Given the description of an element on the screen output the (x, y) to click on. 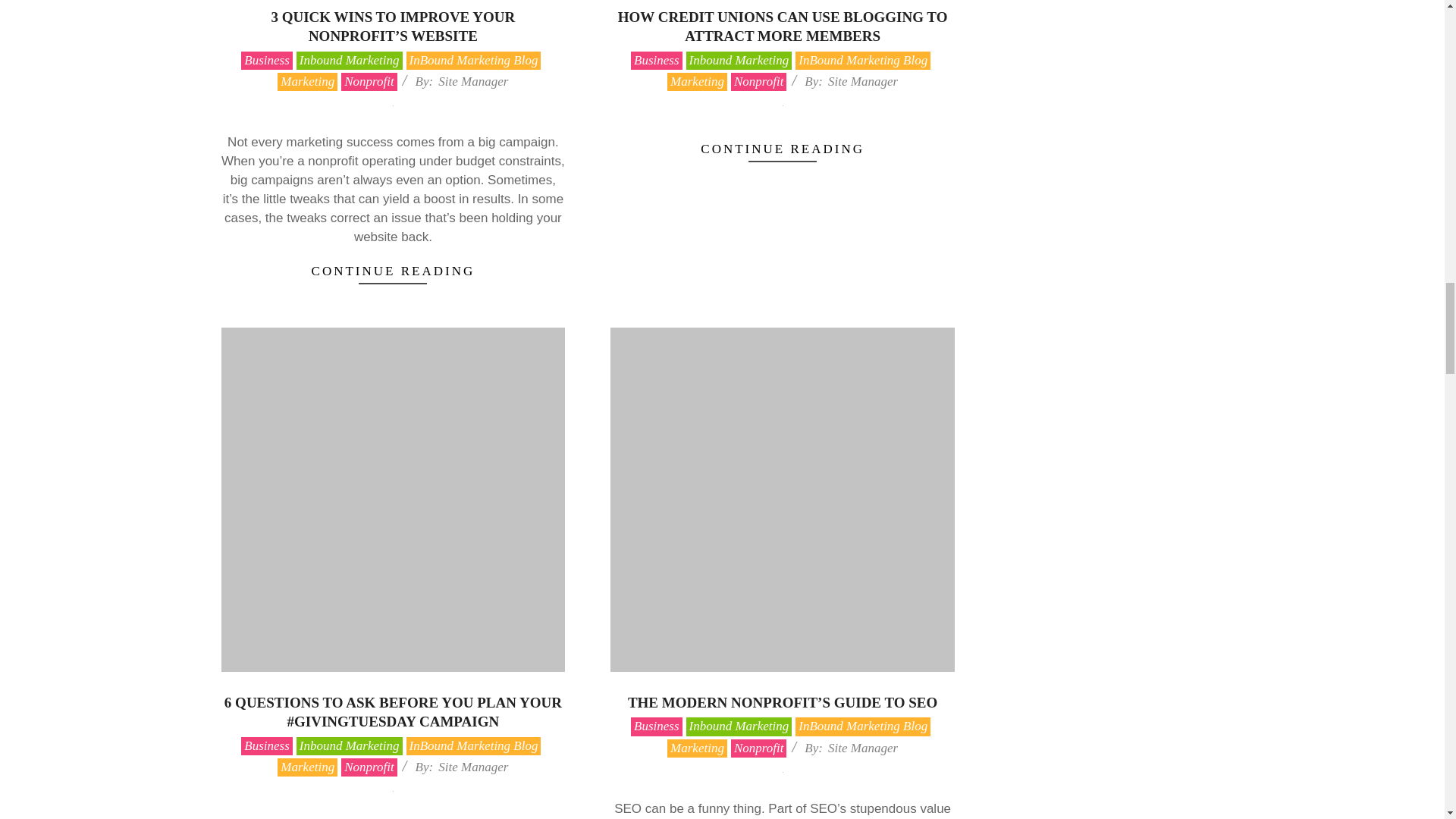
Posts by Site Manager (473, 81)
Posts by Site Manager (473, 766)
Posts by Site Manager (863, 81)
